Given the description of an element on the screen output the (x, y) to click on. 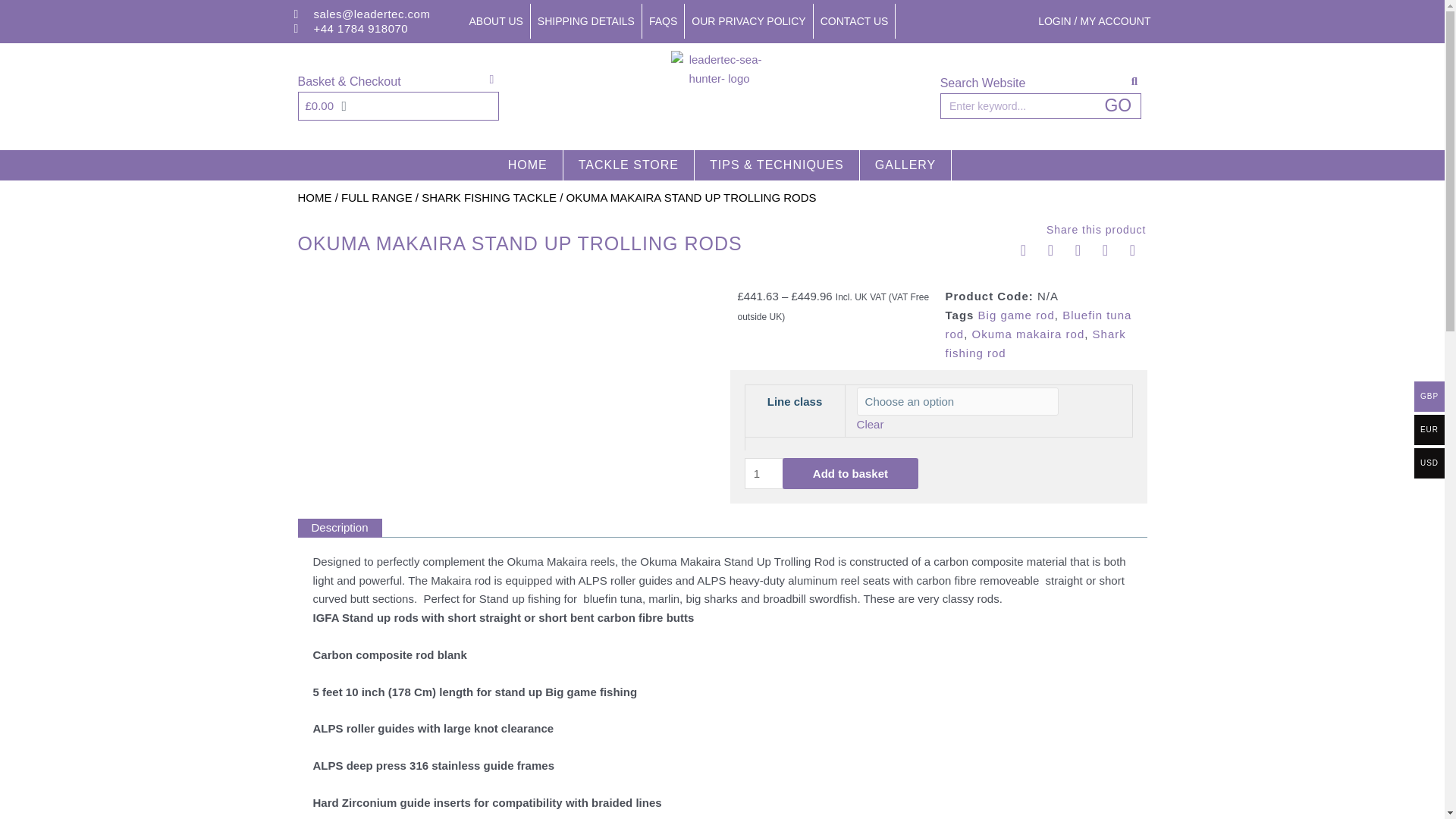
FAQS (663, 21)
TACKLE STORE (628, 164)
1 (825, 473)
ABOUT US (497, 21)
HOME (528, 164)
CONTACT US (854, 21)
OUR PRIVACY POLICY (748, 21)
GO (1118, 105)
SHIPPING DETAILS (586, 21)
